Given the description of an element on the screen output the (x, y) to click on. 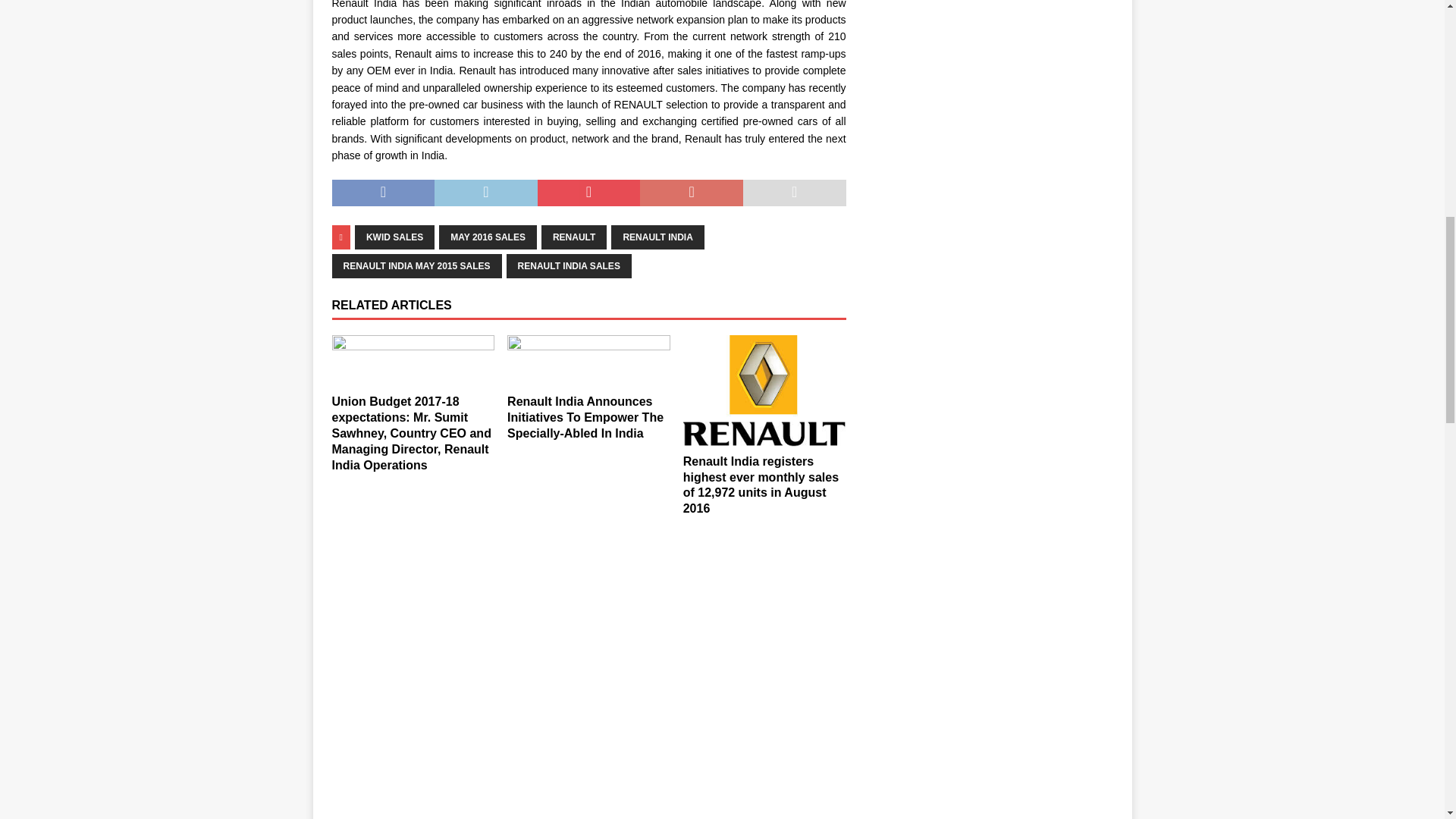
MAY 2016 SALES (488, 237)
KWID SALES (394, 237)
RENAULT (574, 237)
